Given the description of an element on the screen output the (x, y) to click on. 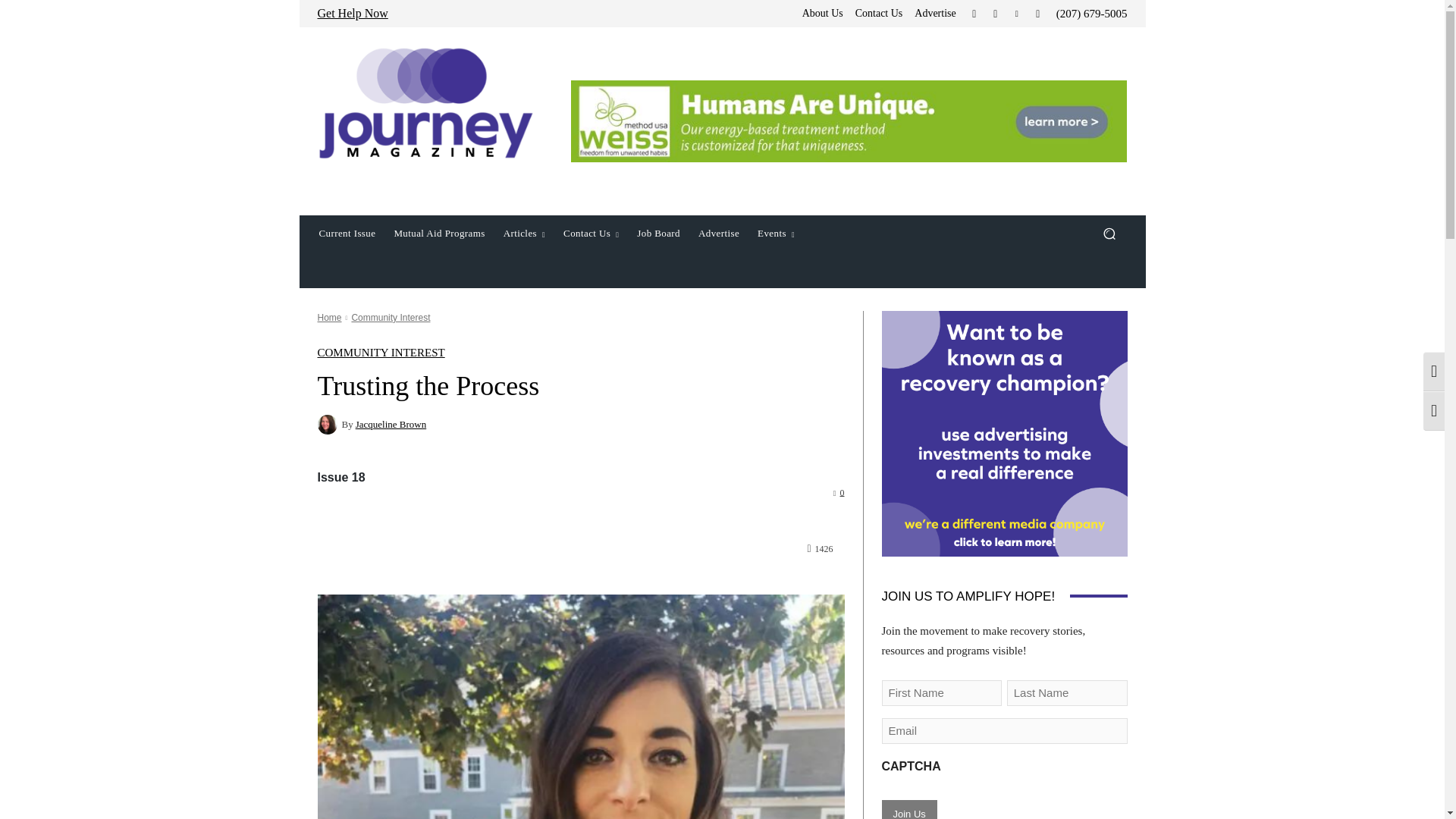
Mutual Aid Programs (438, 233)
Articles (524, 233)
Contact Us (879, 13)
Current Issue (346, 233)
Get Help Now (352, 12)
About Us (822, 13)
Advertise (934, 13)
Join Us (908, 809)
